Given the description of an element on the screen output the (x, y) to click on. 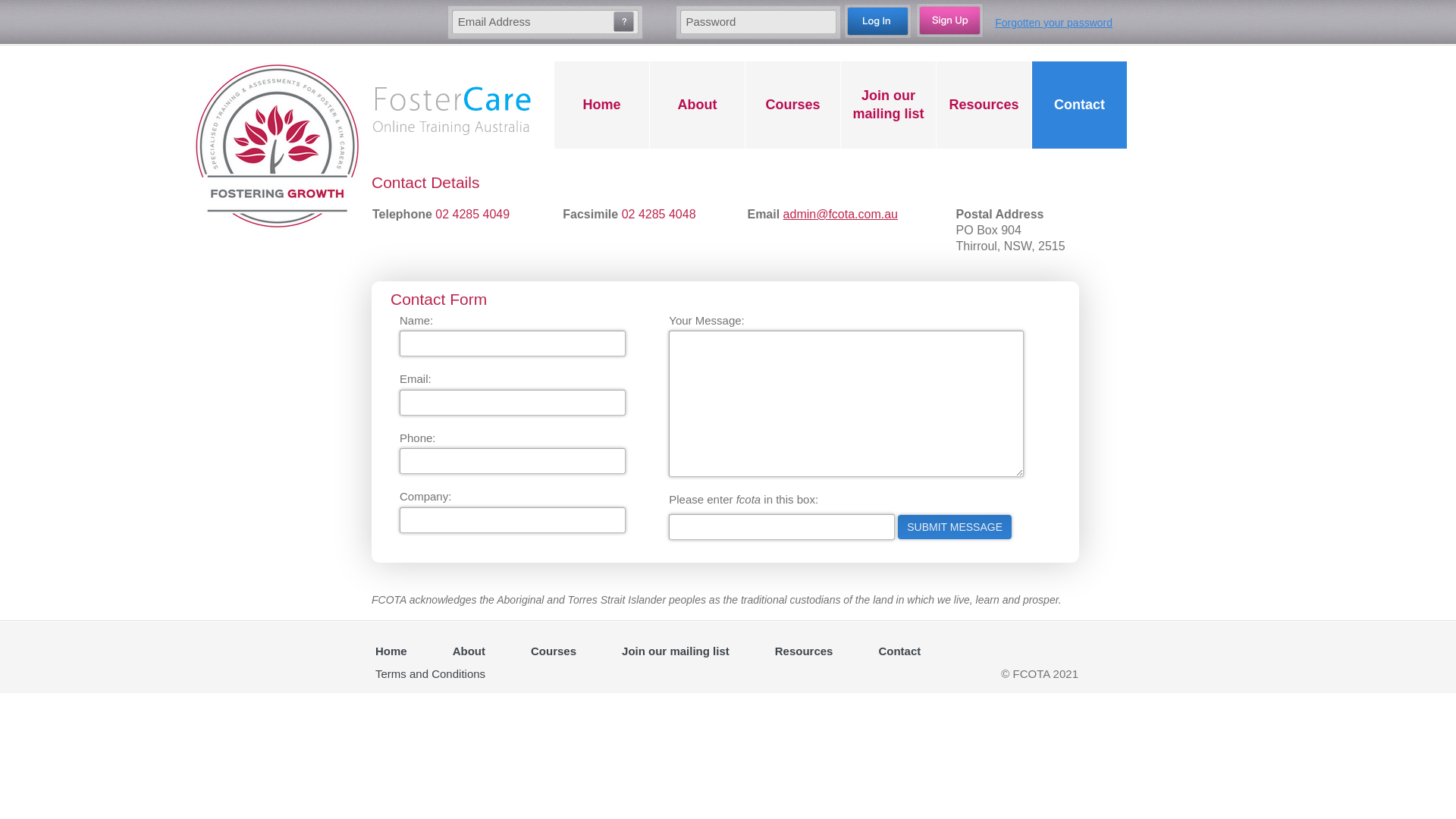
Contact Element type: text (1079, 104)
Resources Element type: text (983, 104)
Join our mailing list Element type: text (887, 104)
Courses Element type: text (553, 650)
Home Element type: text (601, 104)
admin@fcota.com.au Element type: text (840, 213)
02 4285 4048 Element type: text (658, 213)
Join our mailing list Element type: text (675, 650)
Courses Element type: text (792, 104)
Home Element type: text (391, 650)
Contact Element type: text (899, 650)
Wollongong web design Element type: text (585, 673)
02 4285 4049 Element type: text (472, 213)
About Element type: text (696, 104)
About Element type: text (468, 650)
Resources Element type: text (804, 650)
Terms and Conditions Element type: text (430, 673)
Submit Message Element type: text (954, 526)
Forgotten your password Element type: text (1047, 28)
Forgot your username? Element type: hover (623, 21)
